Given the description of an element on the screen output the (x, y) to click on. 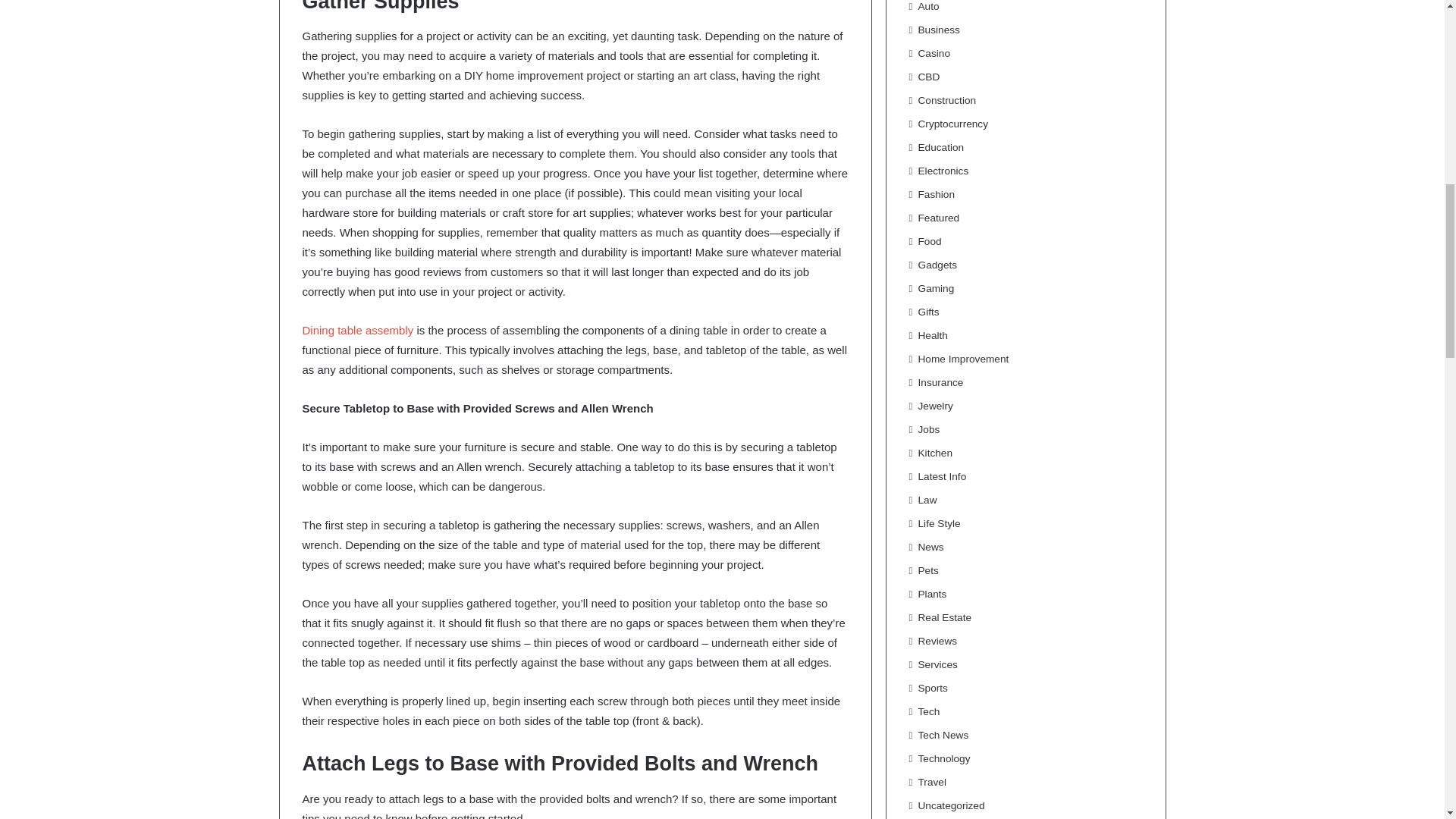
Dining table assembly (357, 329)
